Given the description of an element on the screen output the (x, y) to click on. 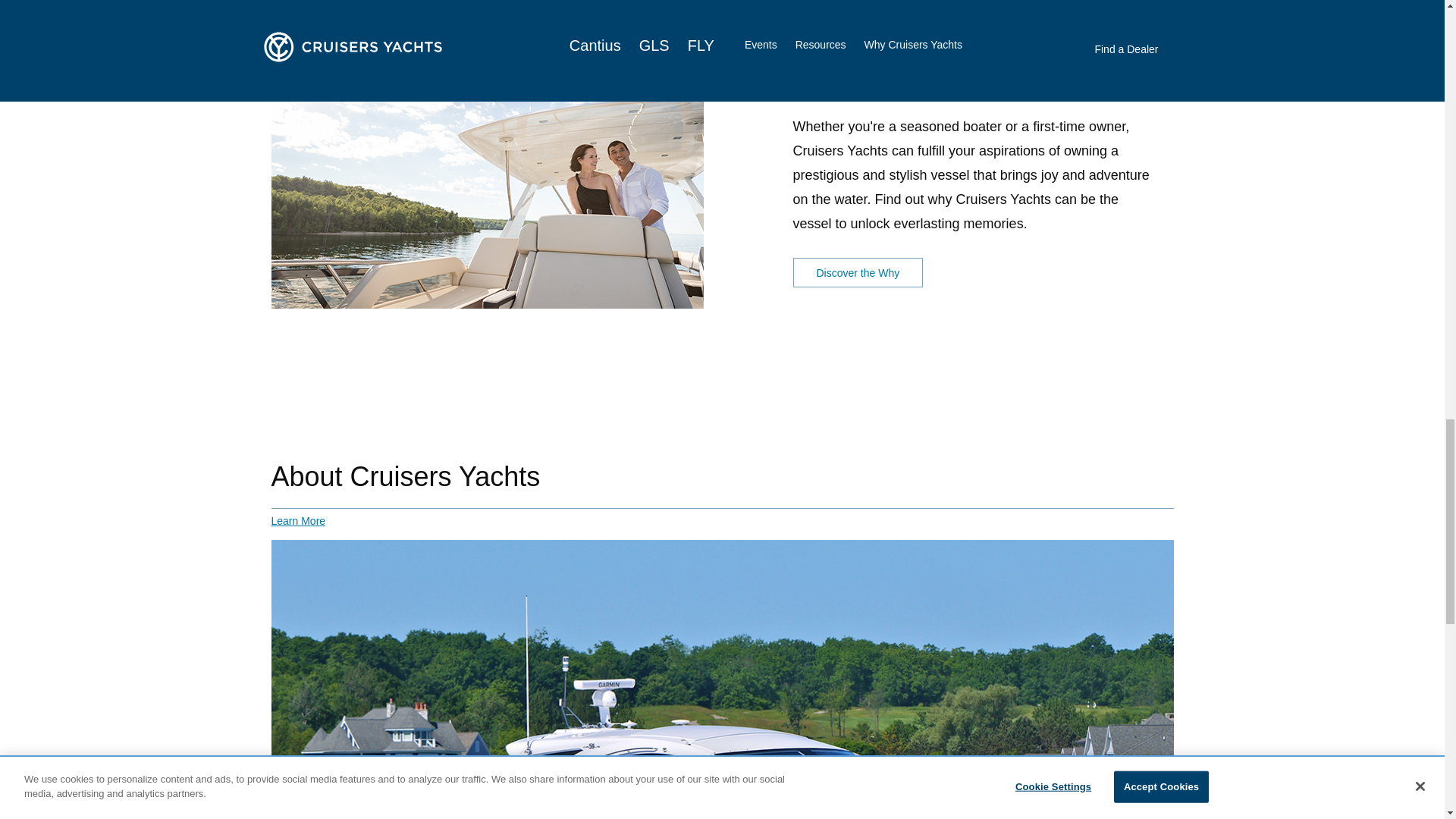
Discover the Why (858, 272)
Learn More (298, 521)
